Given the description of an element on the screen output the (x, y) to click on. 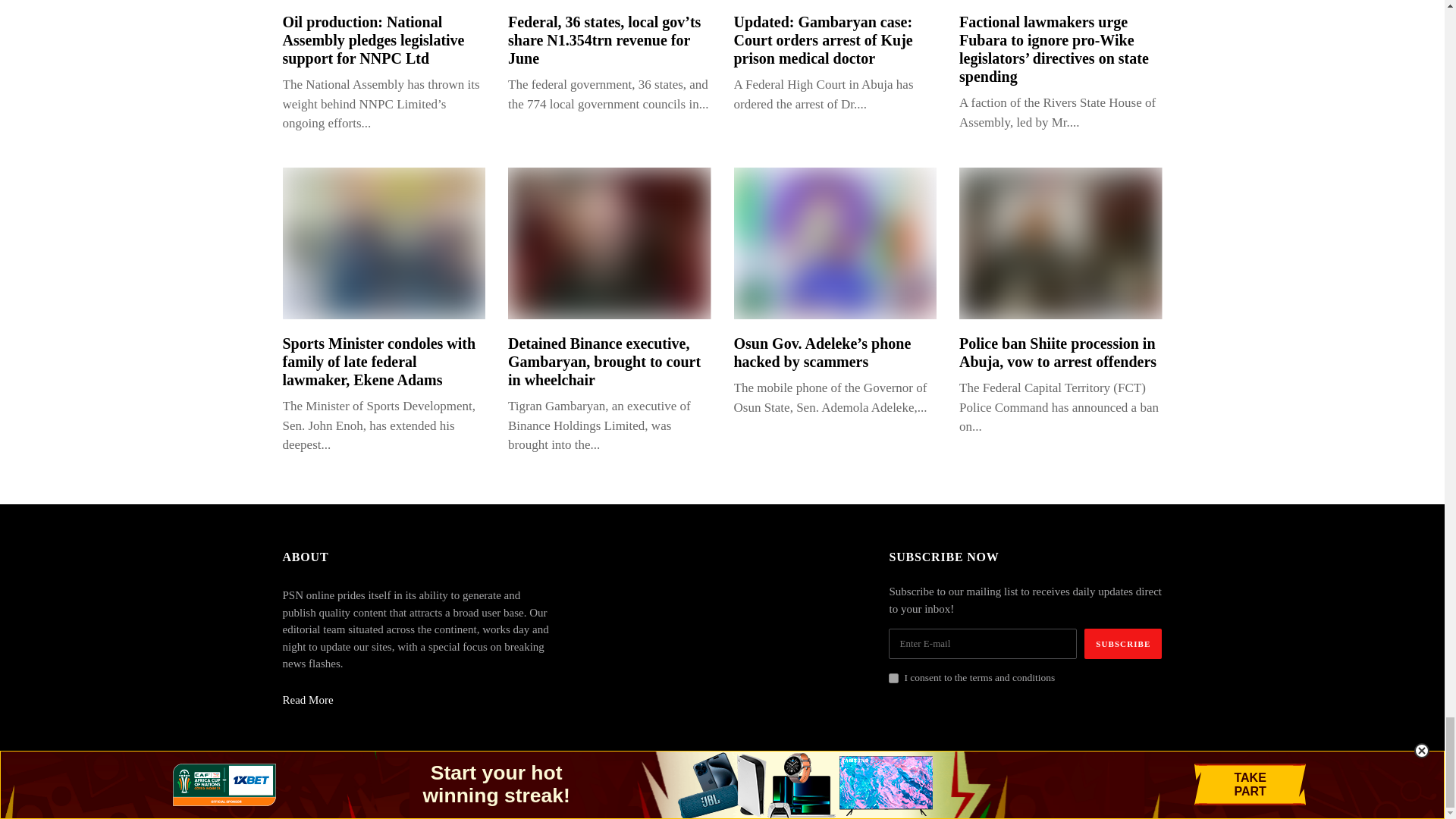
Subscribe (1122, 643)
1 (893, 678)
